Given the description of an element on the screen output the (x, y) to click on. 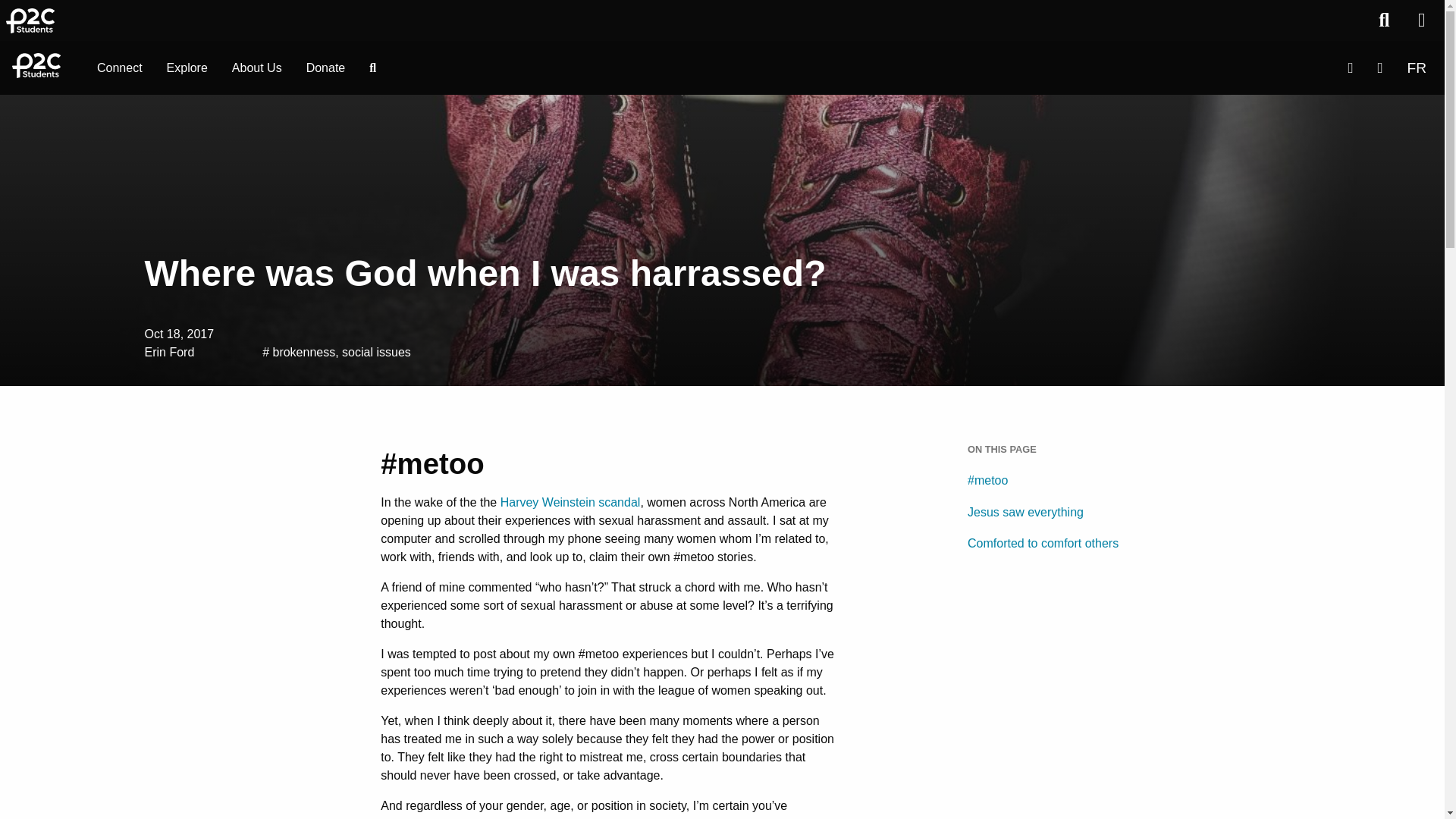
About Us (256, 67)
Comforted to comfort others (1054, 543)
Facebook (1350, 68)
Connect (119, 67)
Harvey Weinstein scandal (570, 502)
Donate (326, 67)
brokenness (303, 351)
social issues (376, 351)
Explore (186, 67)
FR (1416, 68)
Jesus saw everything (1054, 512)
Instagram (1379, 68)
Search (372, 67)
